Given the description of an element on the screen output the (x, y) to click on. 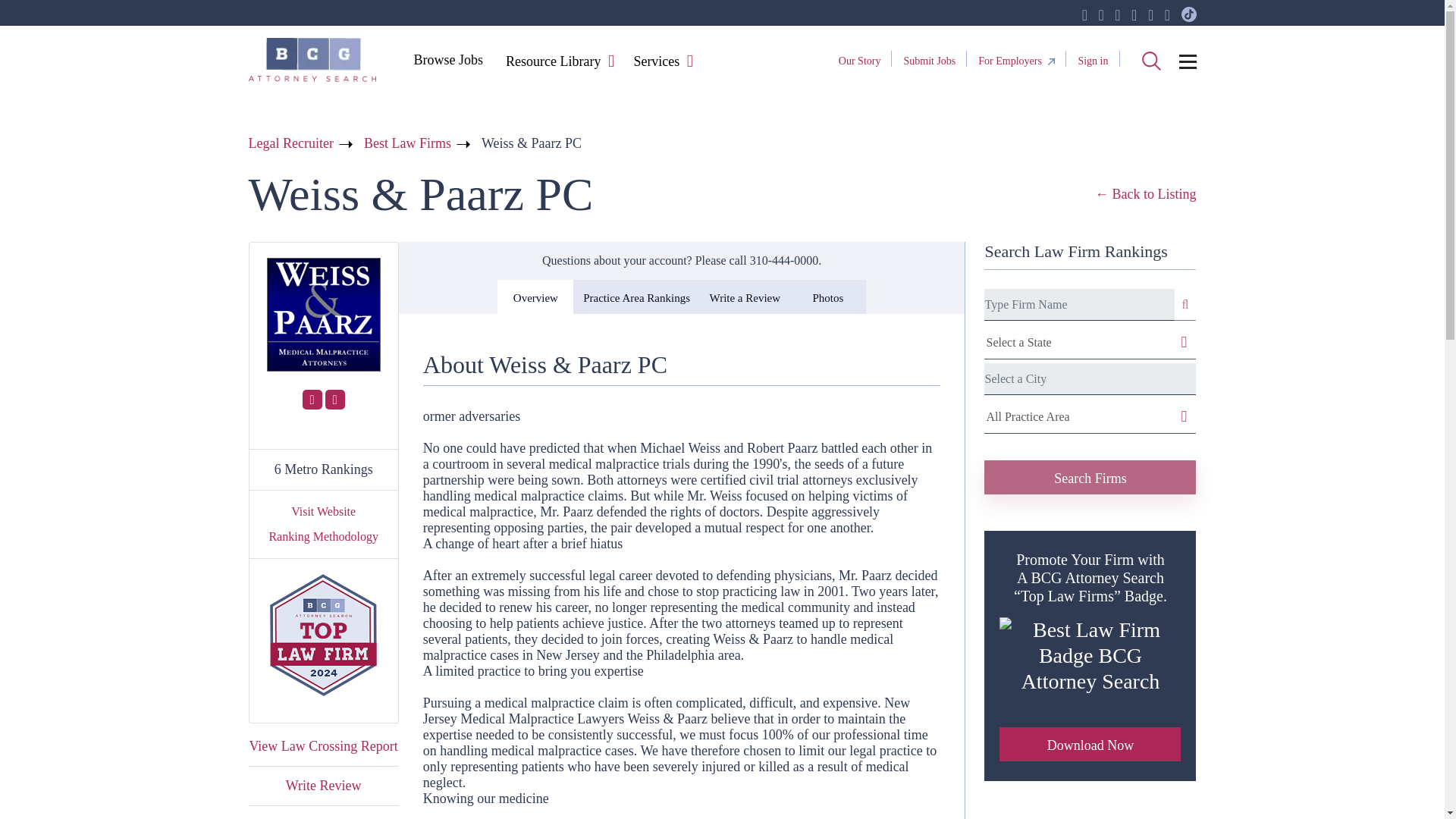
Resource Library (553, 62)
Browse Jobs (448, 59)
BCG Attorney Search Tiktok (1188, 14)
Services (655, 62)
